Given the description of an element on the screen output the (x, y) to click on. 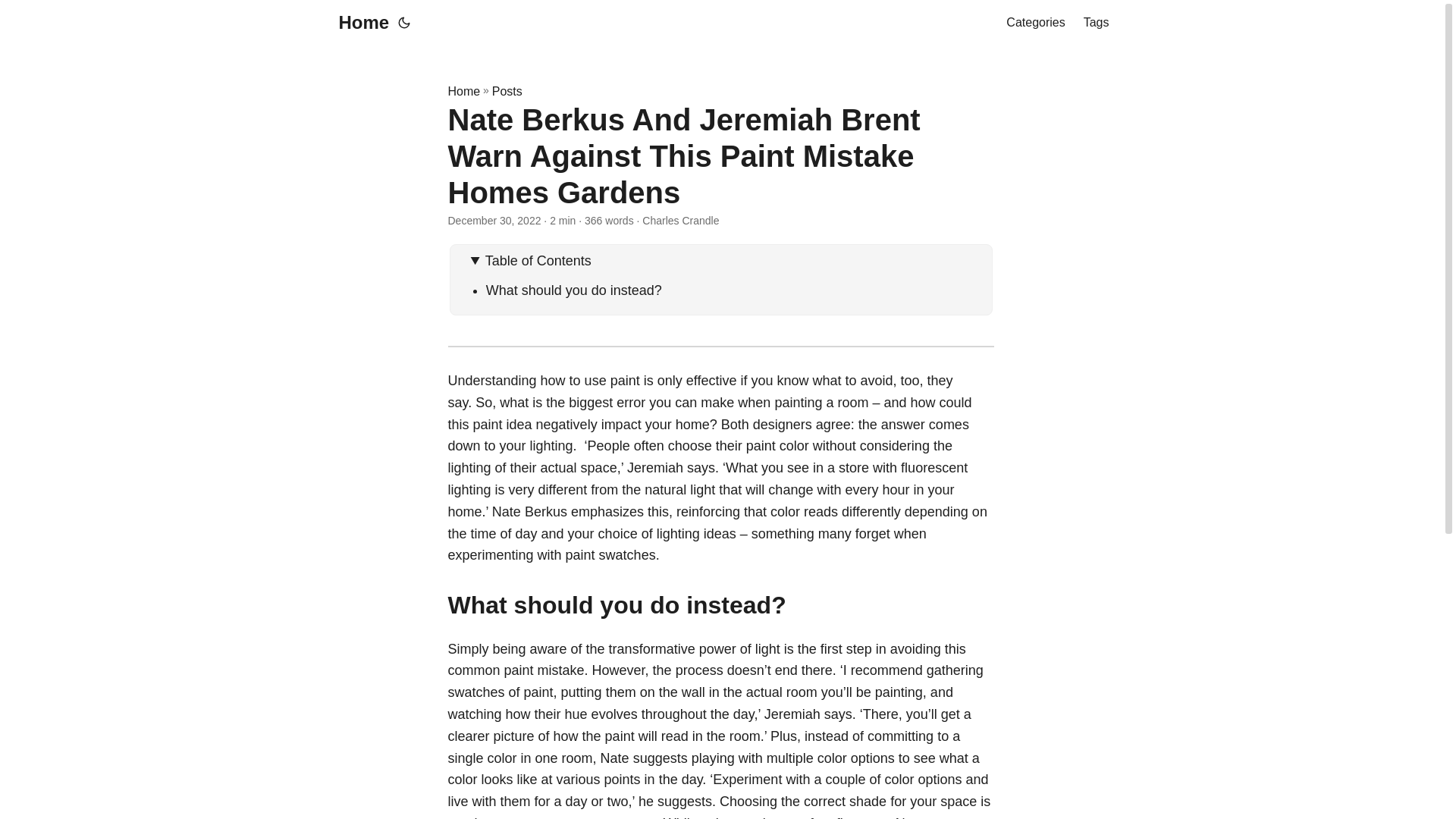
Categories (1035, 22)
What should you do instead?  (575, 290)
Home (463, 91)
Posts (507, 91)
Home (359, 22)
Categories (1035, 22)
